Given the description of an element on the screen output the (x, y) to click on. 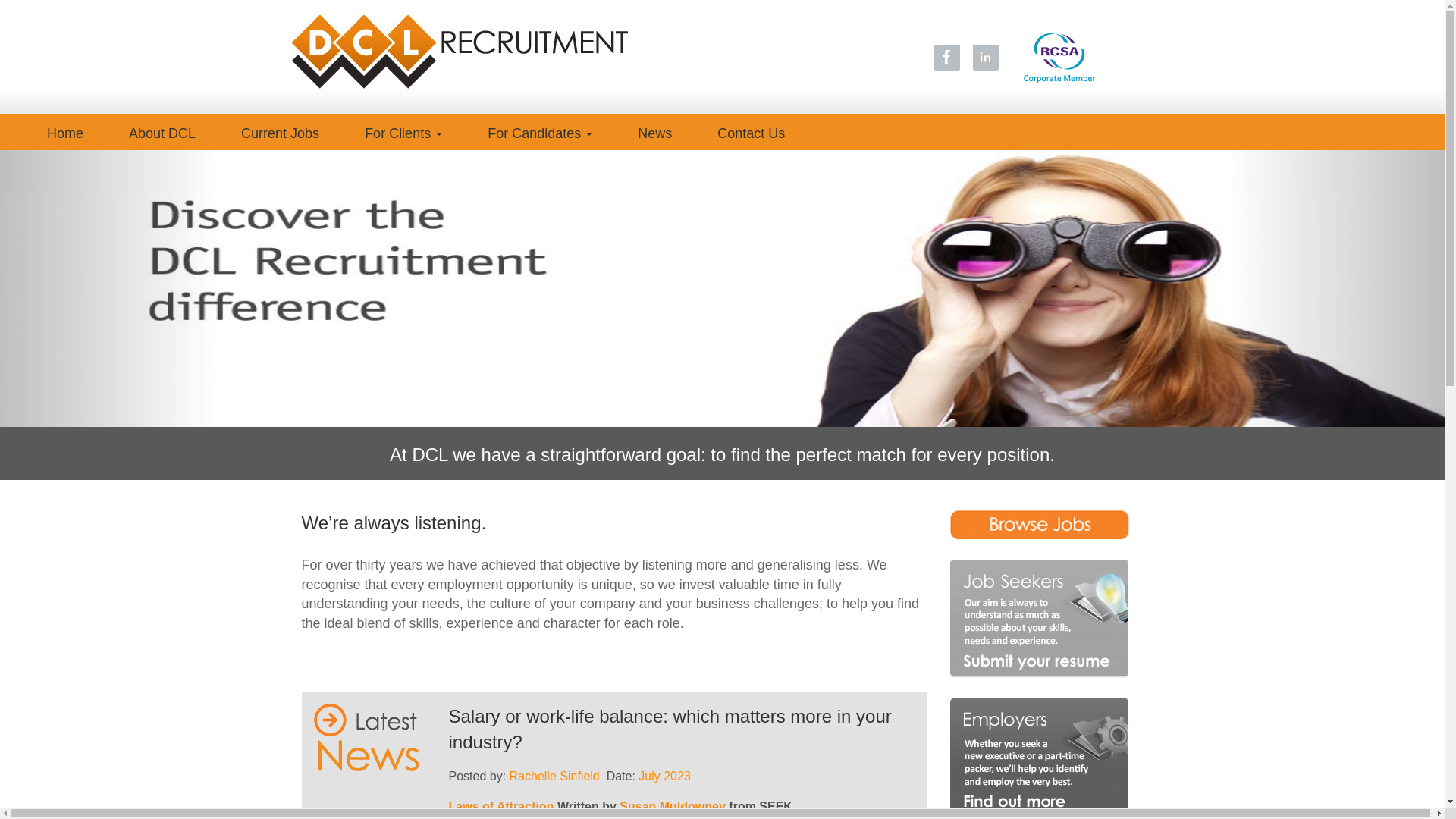
Laws of Attraction Element type: text (501, 806)
News Element type: text (654, 131)
Current Jobs Element type: text (279, 131)
About DCL Element type: text (162, 131)
  Element type: text (108, 288)
Home Element type: text (64, 131)
For Clients Element type: text (403, 131)
Susan Muldowney Element type: text (672, 806)
Contact Us Element type: text (751, 131)
  Element type: text (1335, 288)
For Candidates Element type: text (539, 131)
